Given the description of an element on the screen output the (x, y) to click on. 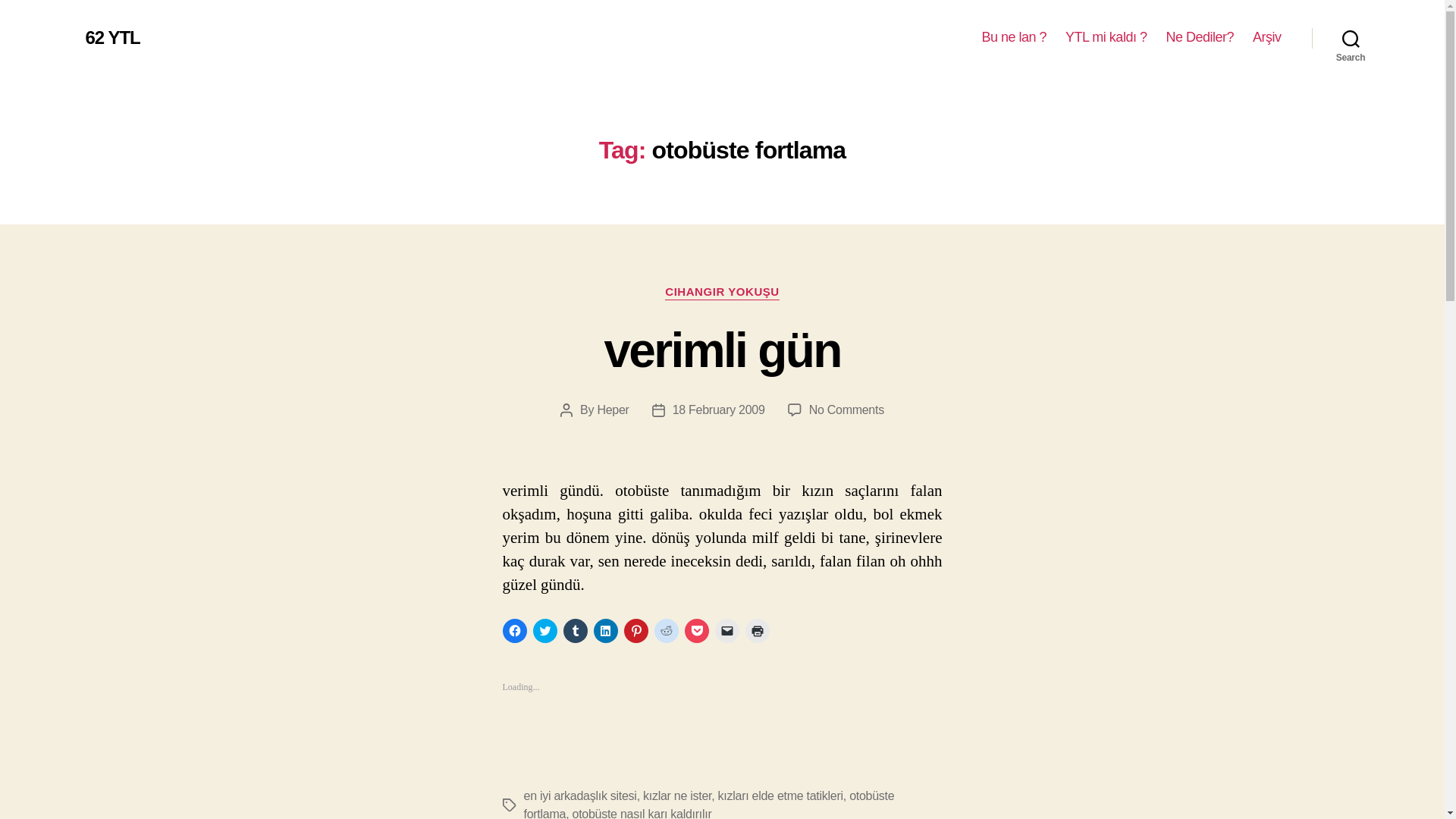
Click to share on LinkedIn (604, 630)
Click to share on Pinterest (635, 630)
Like or Reblog (722, 735)
18 February 2009 (718, 409)
Click to email a link to a friend (726, 630)
Click to share on Twitter (544, 630)
Click to share on Reddit (665, 630)
Search (1350, 37)
Bu ne lan ? (1013, 37)
62 YTL (111, 37)
